Given the description of an element on the screen output the (x, y) to click on. 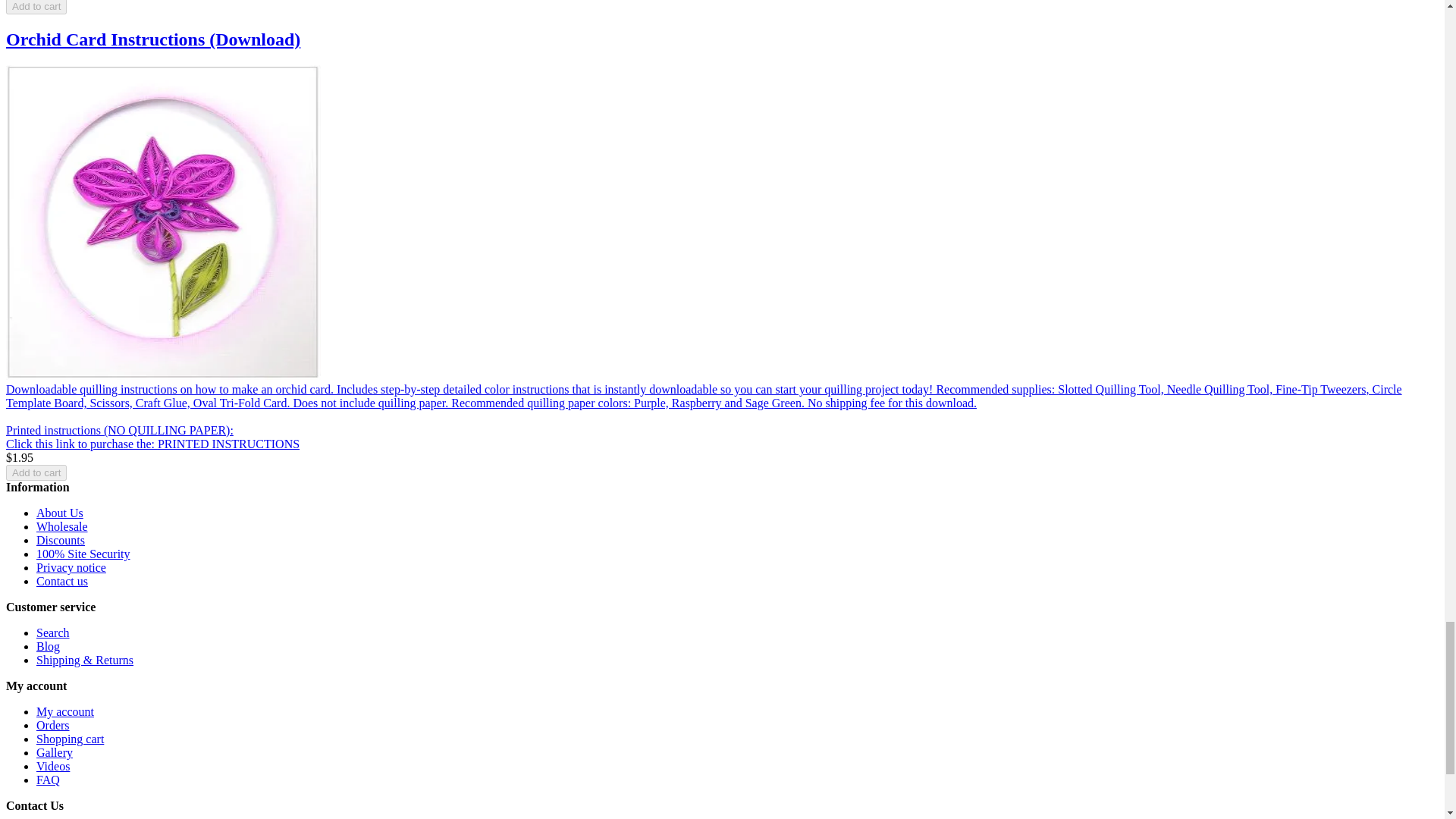
Quilled Orchid Card Quilling Instructions (162, 375)
Quilled Orchid Card Quilling Instructions (162, 222)
